Given the description of an element on the screen output the (x, y) to click on. 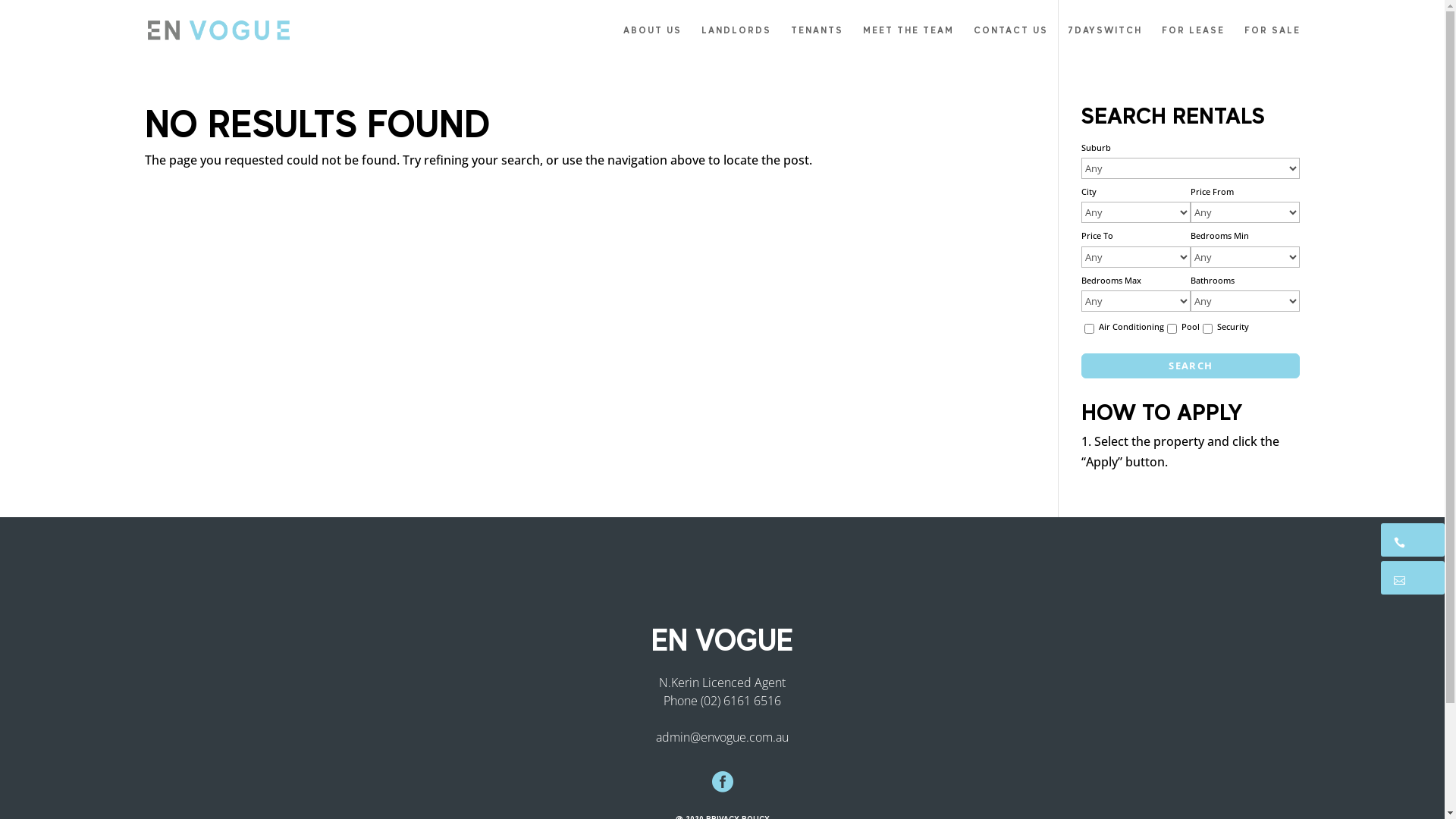
MEET THE TEAM Element type: text (907, 42)
FOR SALE Element type: text (1271, 42)
TENANTS Element type: text (816, 42)
Search Element type: text (1190, 365)
ABOUT US Element type: text (652, 42)
FOR LEASE Element type: text (1192, 42)
LANDLORDS Element type: text (735, 42)
(02) 6161 6516 Element type: text (740, 699)
admin@envogue.com.au Element type: text (721, 736)
7DAYSWITCH Element type: text (1104, 42)
CONTACT US Element type: text (1010, 42)
